Given the description of an element on the screen output the (x, y) to click on. 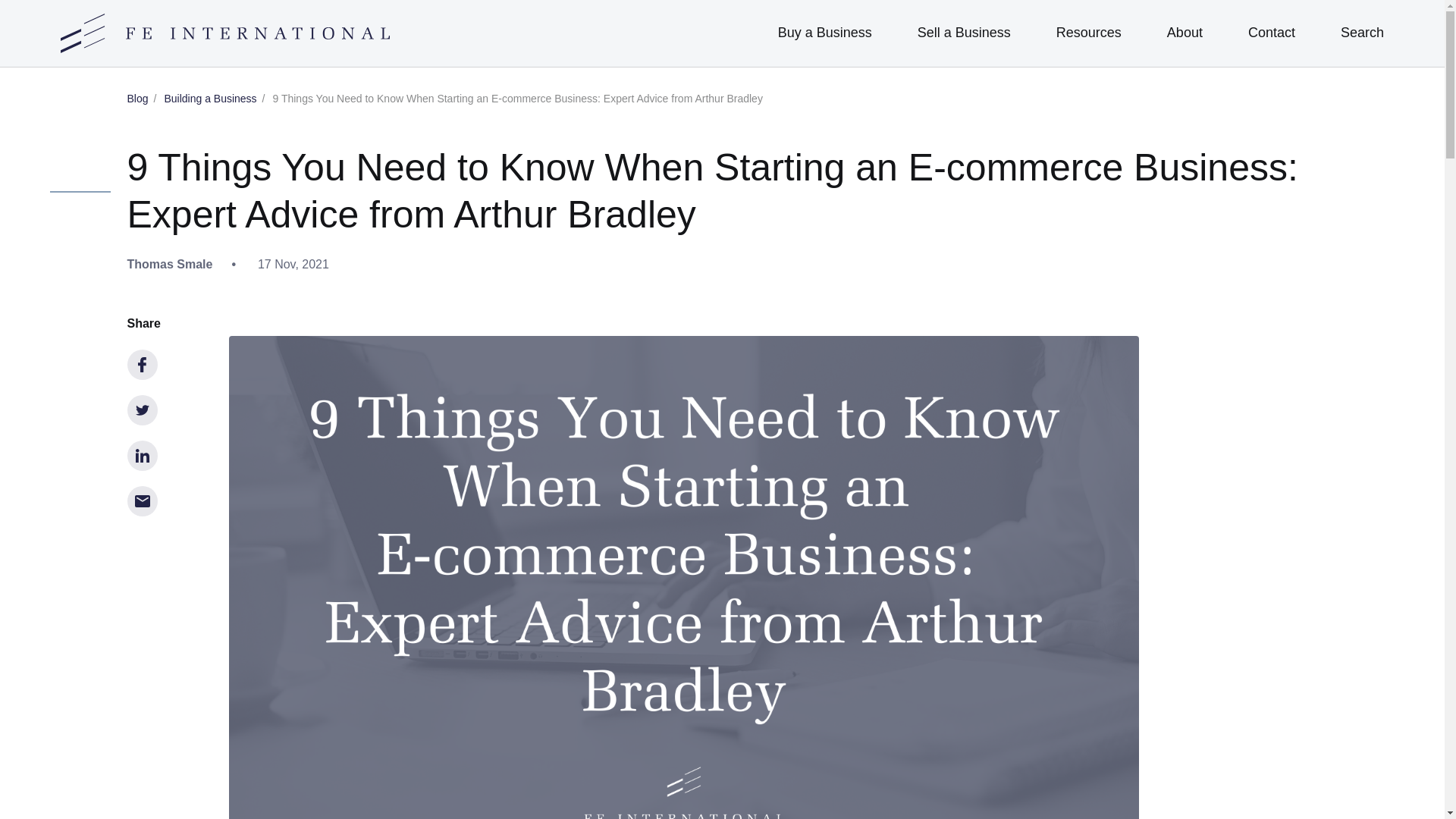
Search (1362, 32)
Resources (1089, 32)
Buy a Business (824, 32)
Blog (138, 98)
Search (1362, 32)
Blog (138, 98)
Contact (1271, 32)
Building a Business (209, 98)
Sell a Business (963, 32)
About (1184, 32)
Building a Business (209, 98)
